Given the description of an element on the screen output the (x, y) to click on. 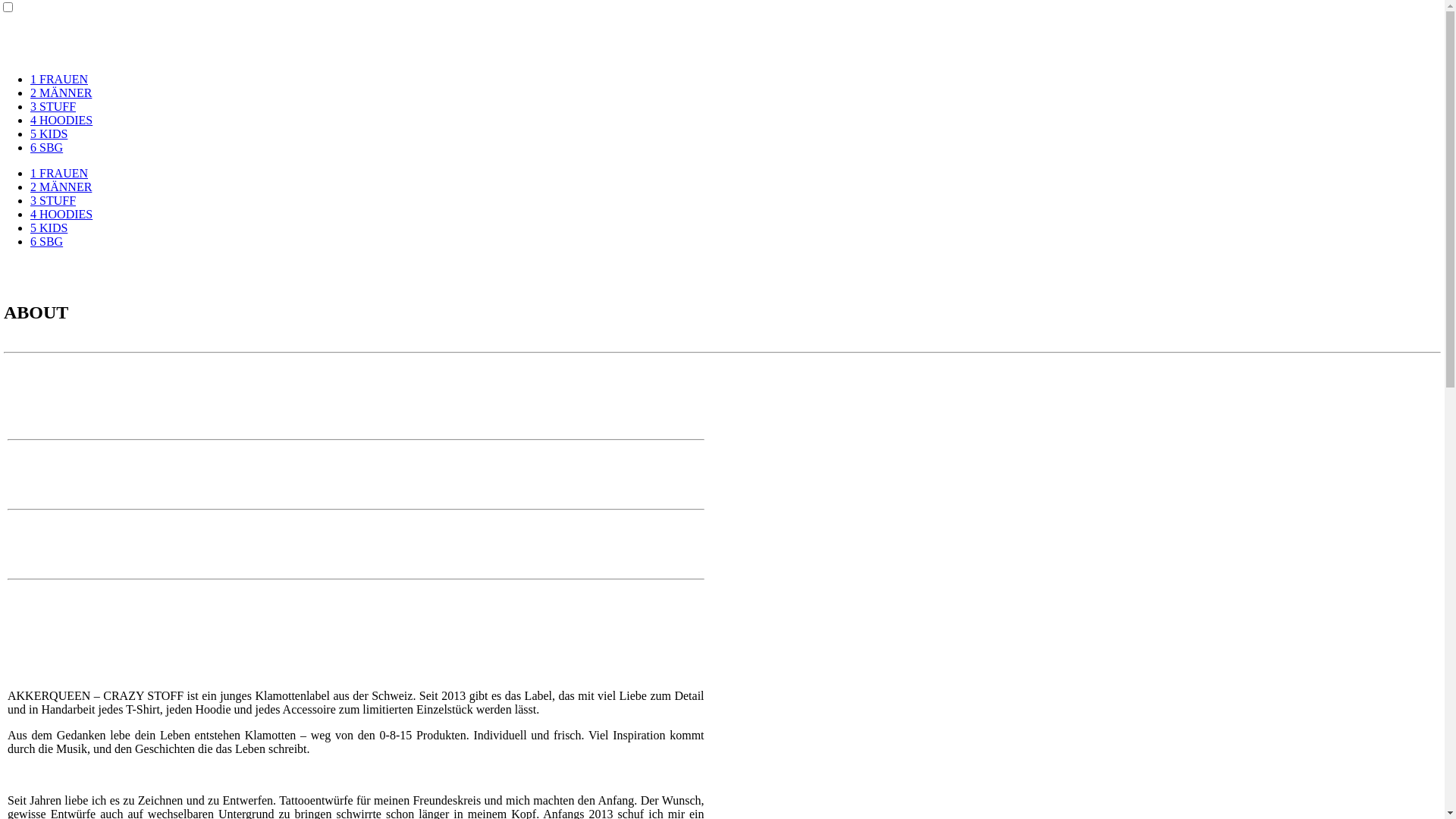
5 KIDS Element type: text (48, 227)
1 FRAUEN Element type: text (58, 78)
6 SBG Element type: text (46, 147)
1 FRAUEN Element type: text (58, 172)
4 HOODIES Element type: text (61, 213)
4 HOODIES Element type: text (61, 119)
6 SBG Element type: text (46, 241)
5 KIDS Element type: text (48, 133)
3 STUFF Element type: text (52, 200)
3 STUFF Element type: text (52, 106)
